Given the description of an element on the screen output the (x, y) to click on. 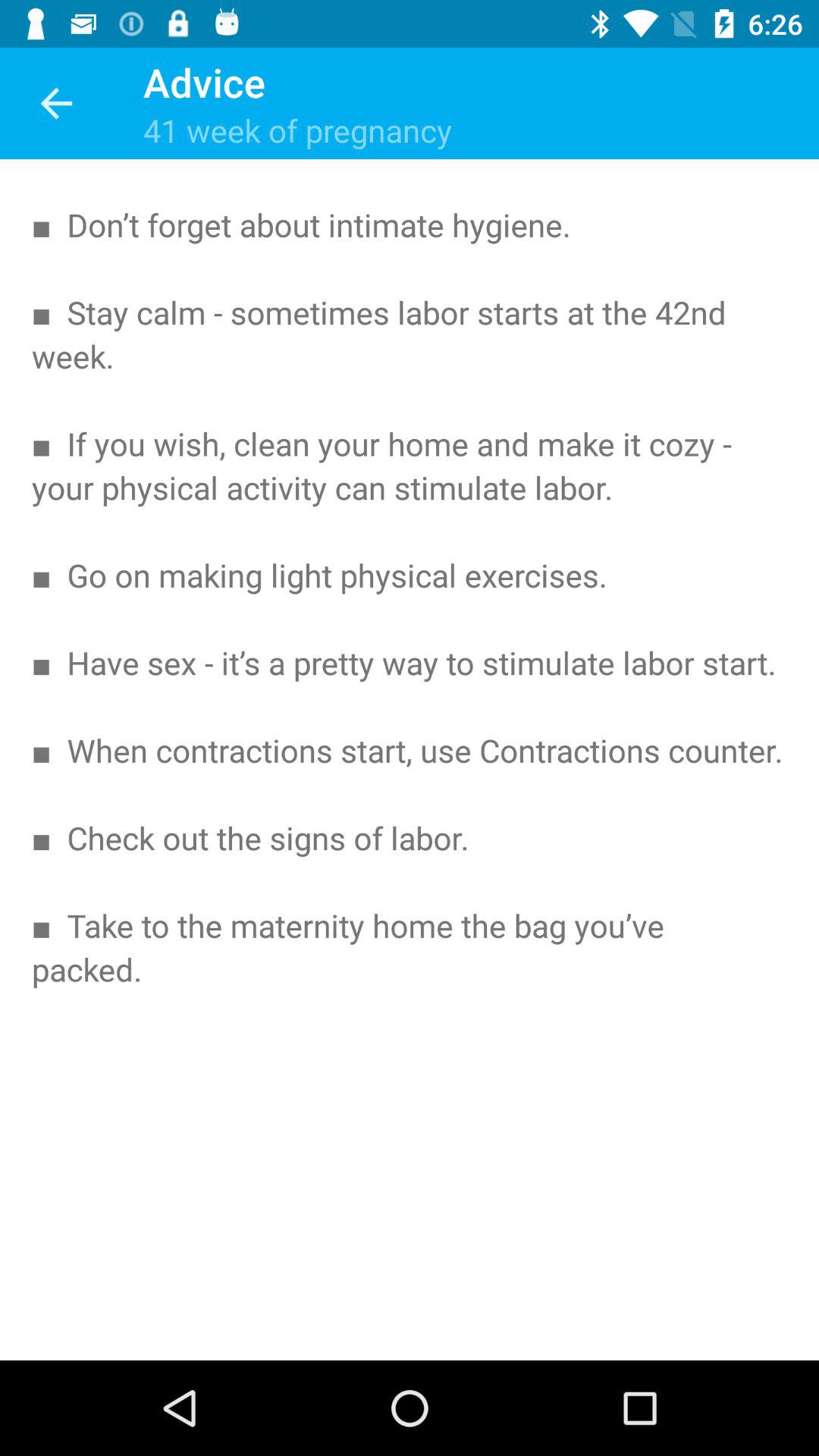
select the item above the don t forget item (55, 103)
